Given the description of an element on the screen output the (x, y) to click on. 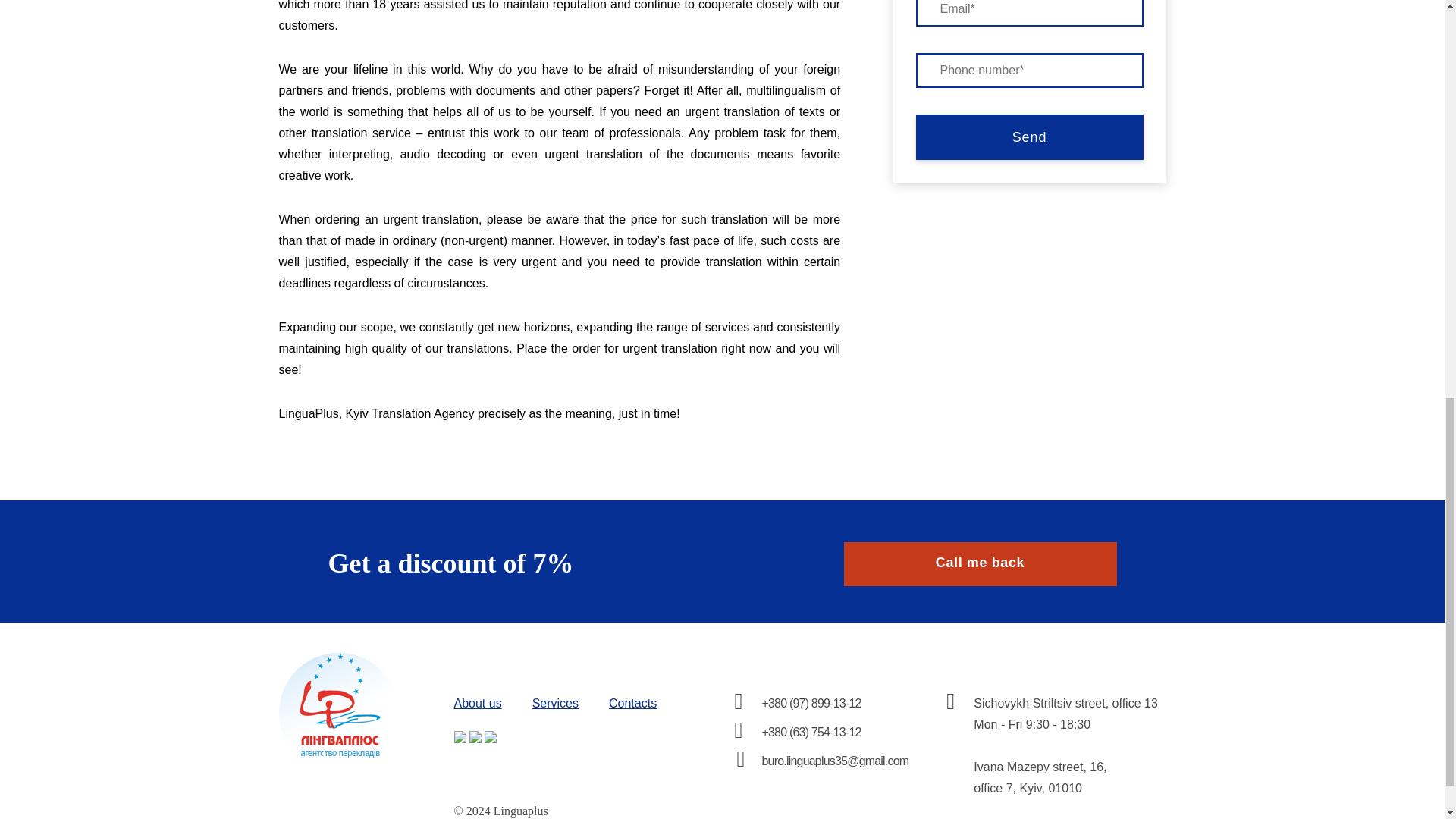
Contacts (632, 703)
Call me back (979, 564)
Send (1028, 136)
Services (555, 703)
Send (1028, 136)
About us (476, 703)
